Given the description of an element on the screen output the (x, y) to click on. 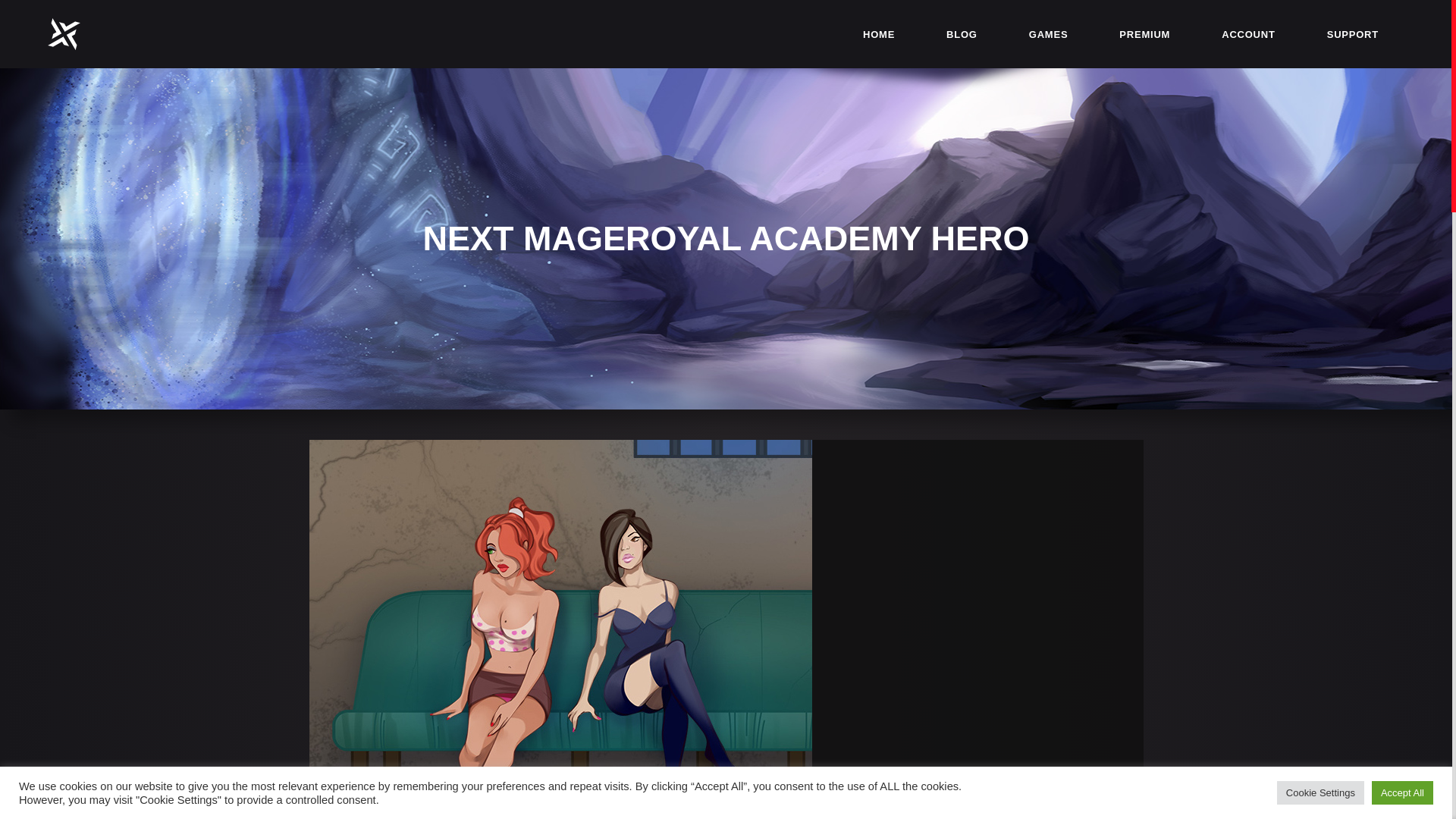
BLOG (961, 33)
GAMES (1048, 33)
SUPPORT (1352, 33)
HOME (878, 33)
PREMIUM (1144, 33)
ACCOUNT (1247, 33)
